Given the description of an element on the screen output the (x, y) to click on. 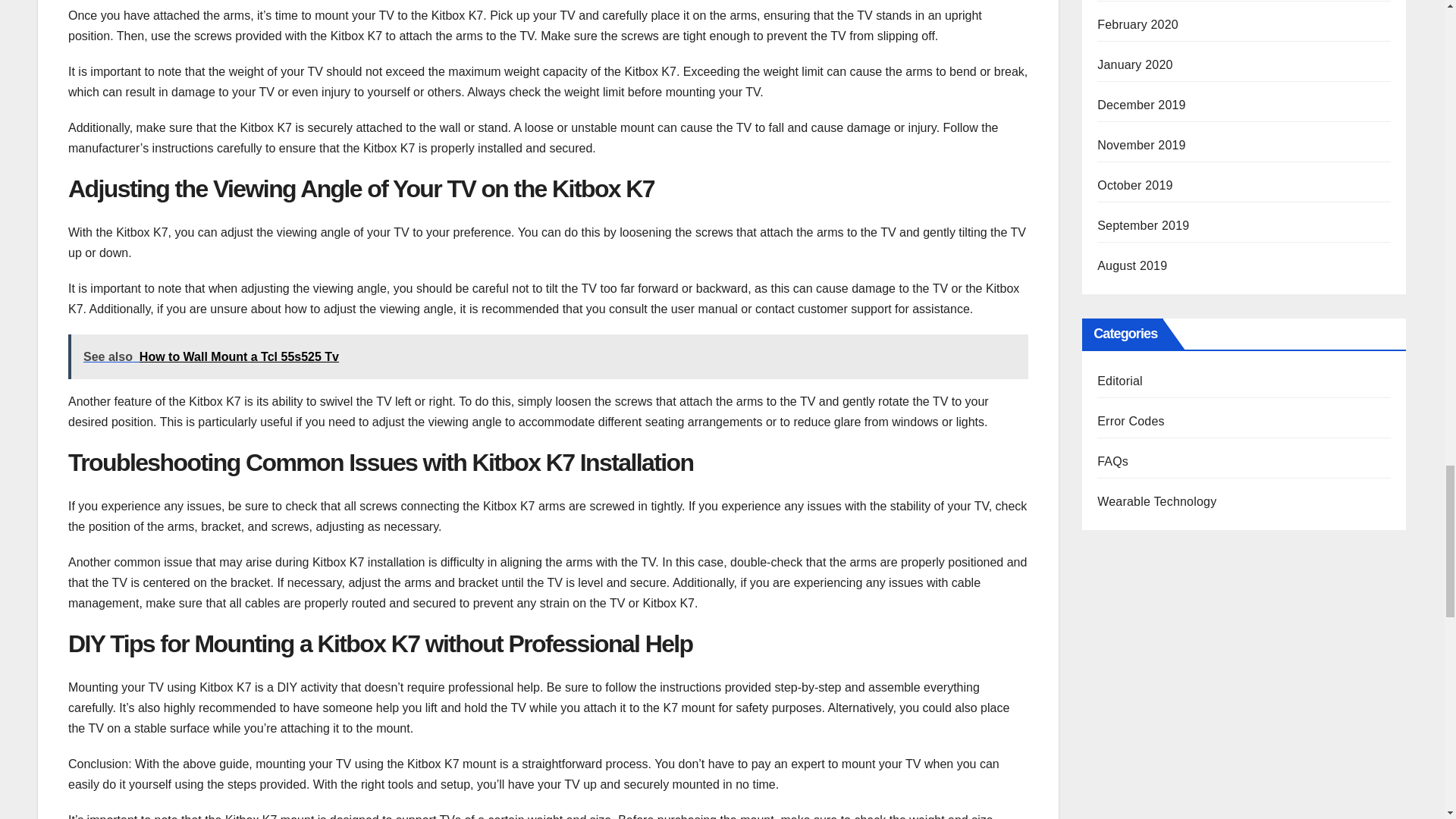
See also  How to Wall Mount a Tcl 55s525 Tv (547, 356)
